Given the description of an element on the screen output the (x, y) to click on. 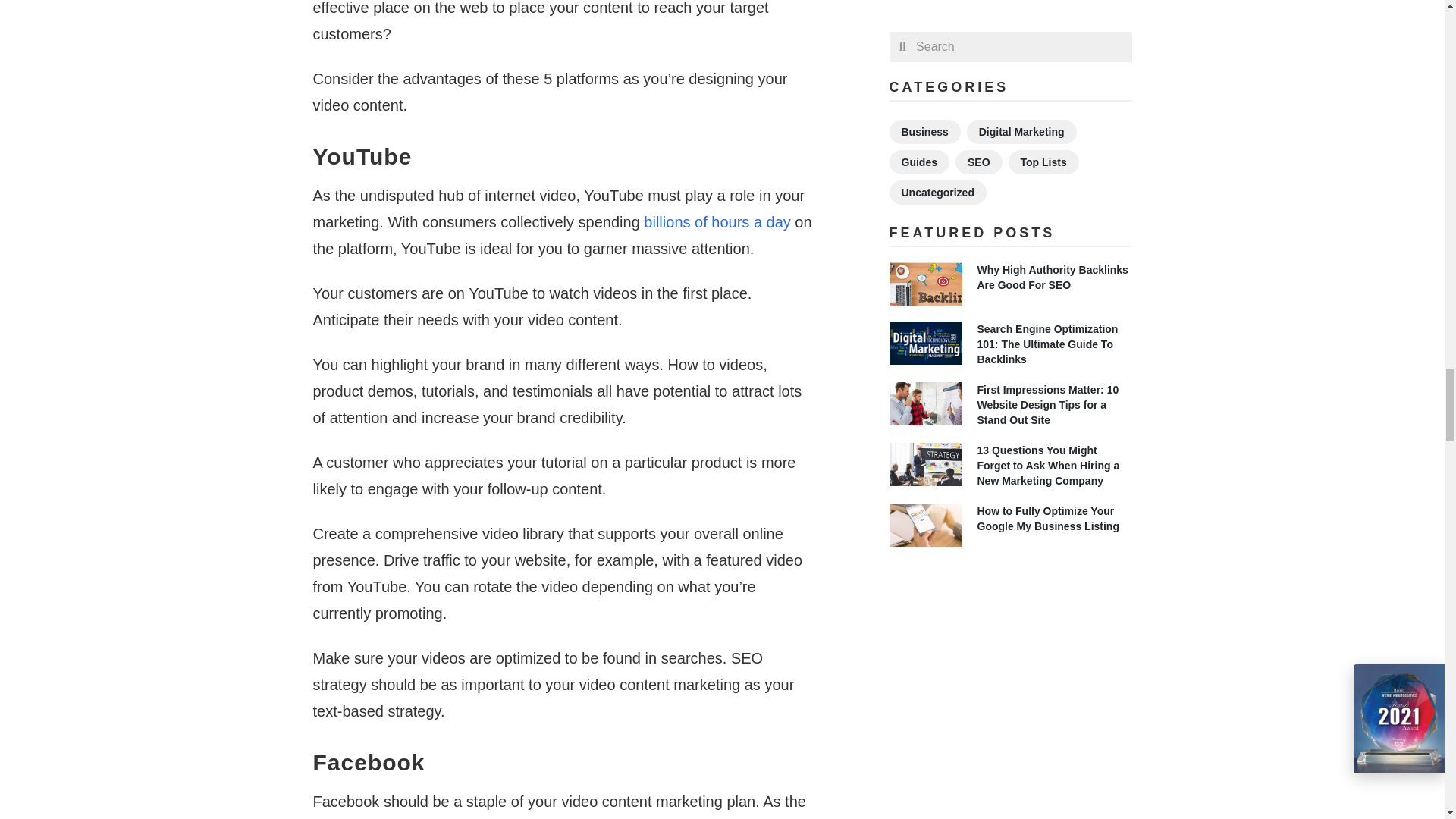
billions of hours a day (716, 221)
